Given the description of an element on the screen output the (x, y) to click on. 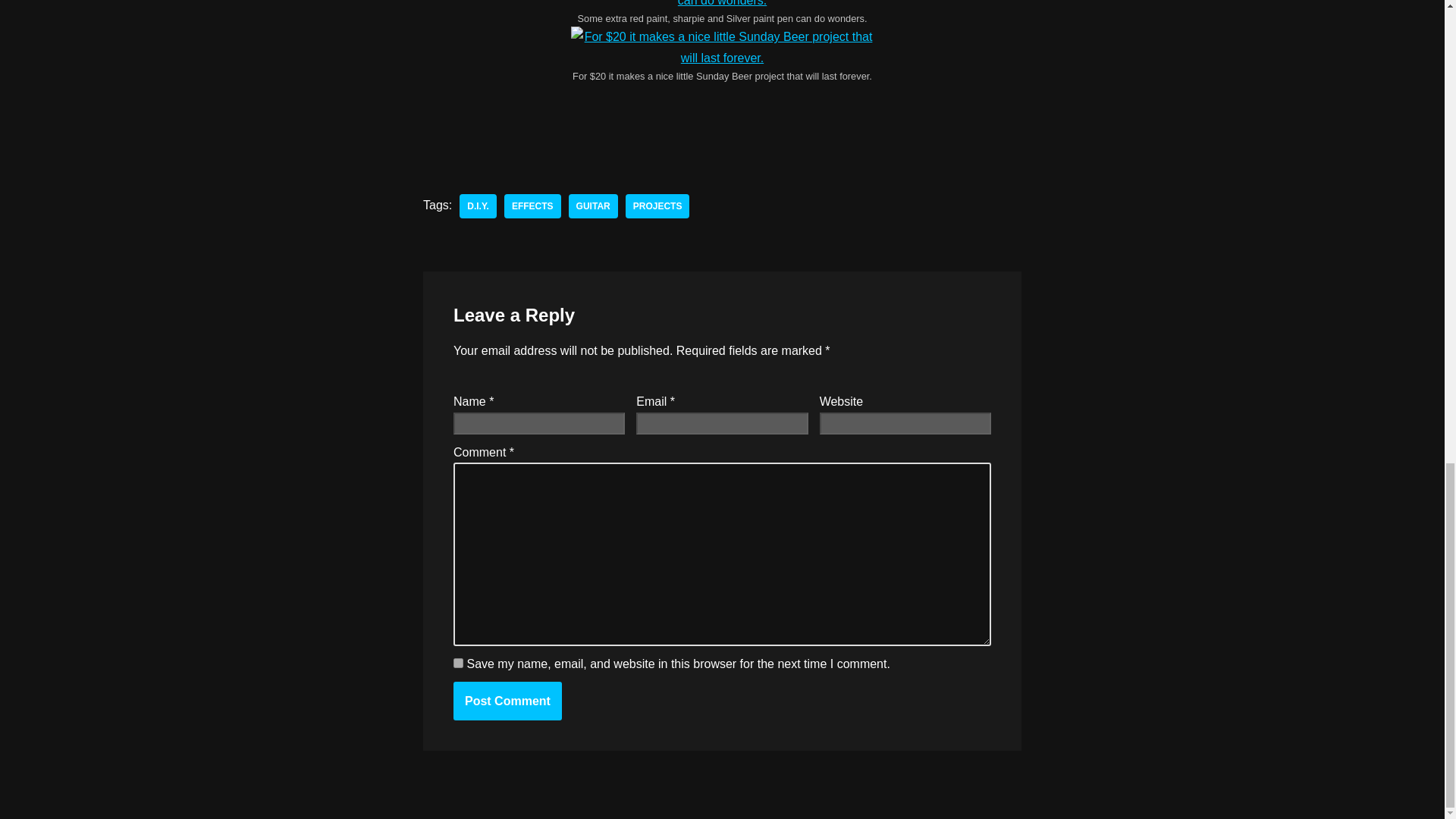
EFFECTS (531, 206)
Post Comment (507, 701)
PROJECTS (658, 206)
Post Comment (507, 701)
D.I.Y. (478, 206)
D.I.Y. (478, 206)
Projects (658, 206)
Effects (531, 206)
Guitar (593, 206)
yes (457, 663)
GUITAR (593, 206)
